Given the description of an element on the screen output the (x, y) to click on. 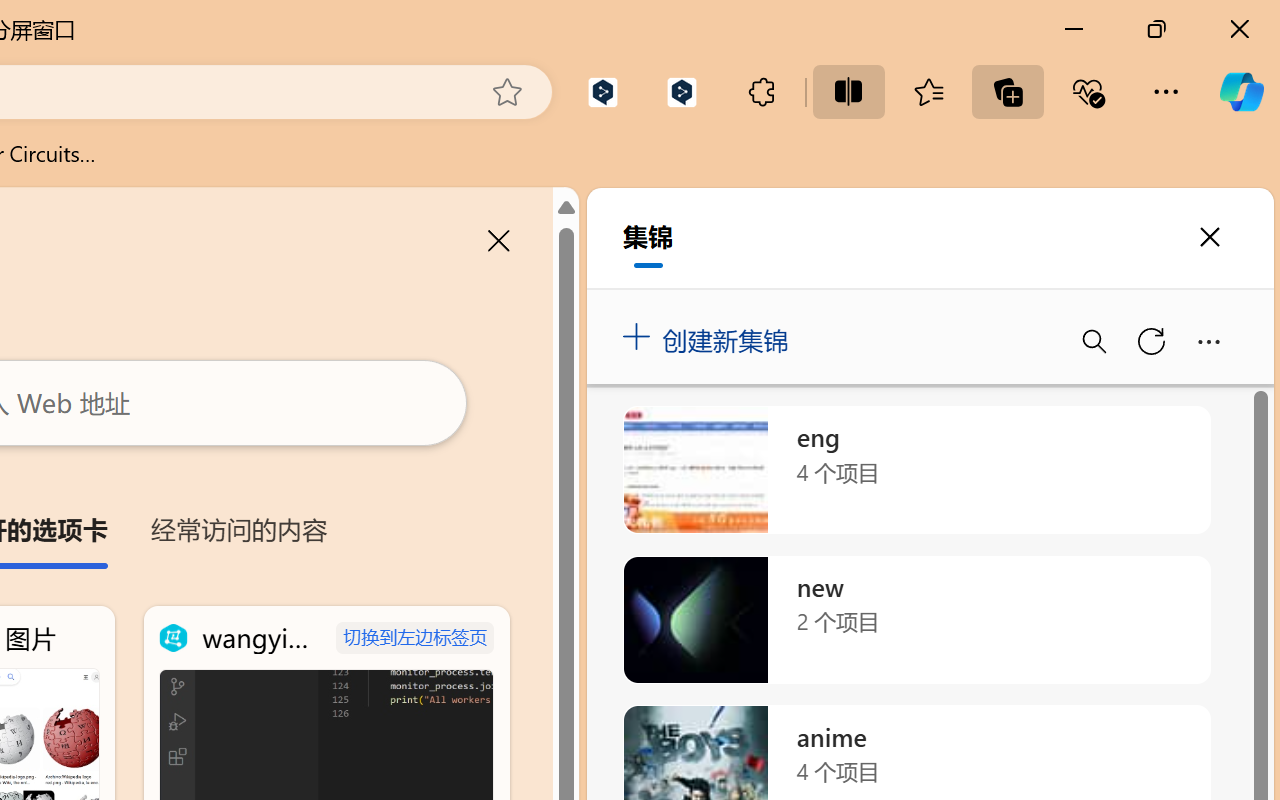
Copilot (Ctrl+Shift+.) (1241, 91)
